Given the description of an element on the screen output the (x, y) to click on. 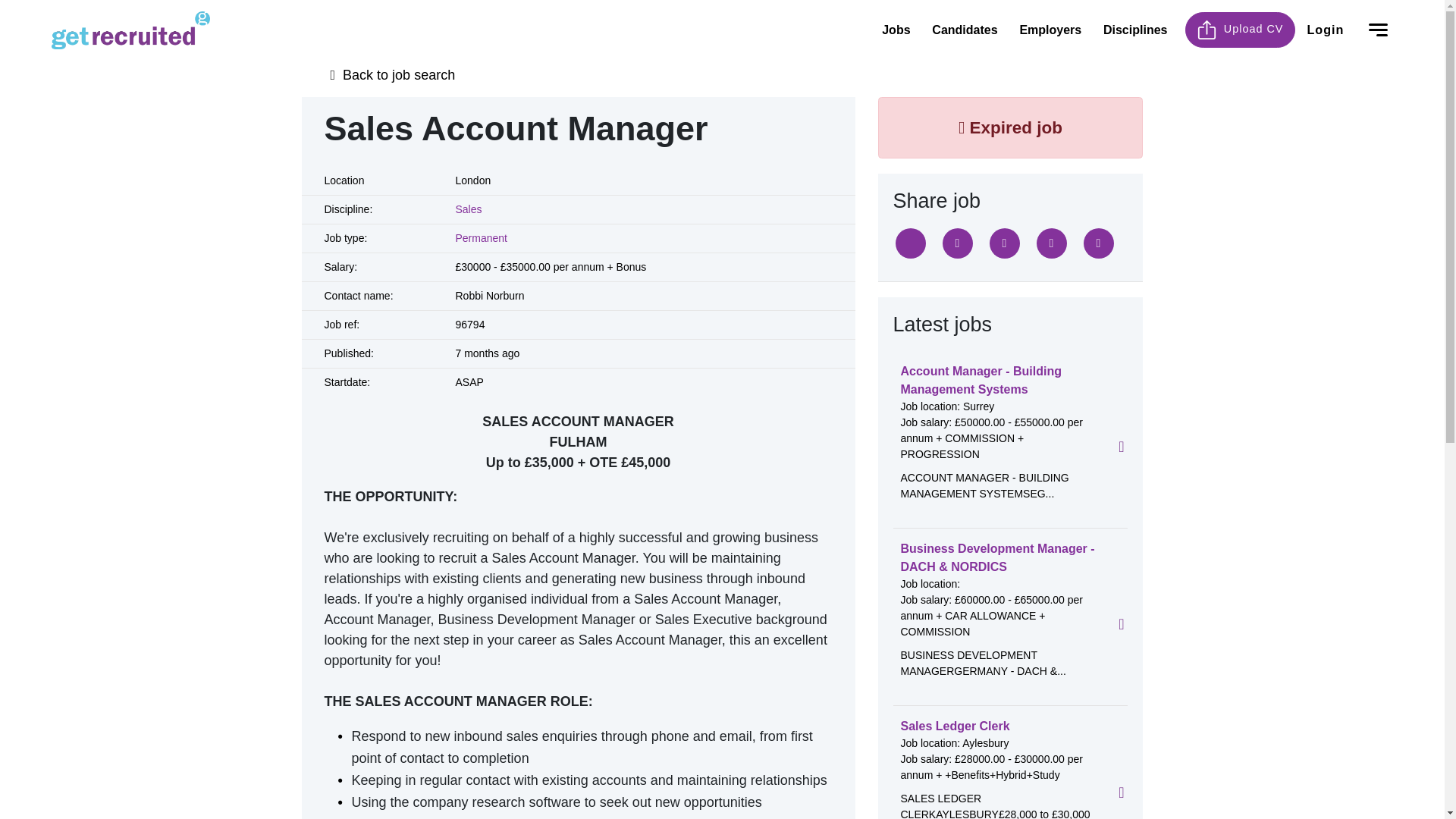
Email (1050, 243)
Login (1325, 29)
Candidates (964, 29)
Disciplines (1135, 29)
Jobs (896, 29)
Tweet this (909, 243)
send in Whatsapp (1098, 243)
share on Facebook (957, 243)
Employers (1050, 29)
share on LinkedIn (1003, 243)
